Given the description of an element on the screen output the (x, y) to click on. 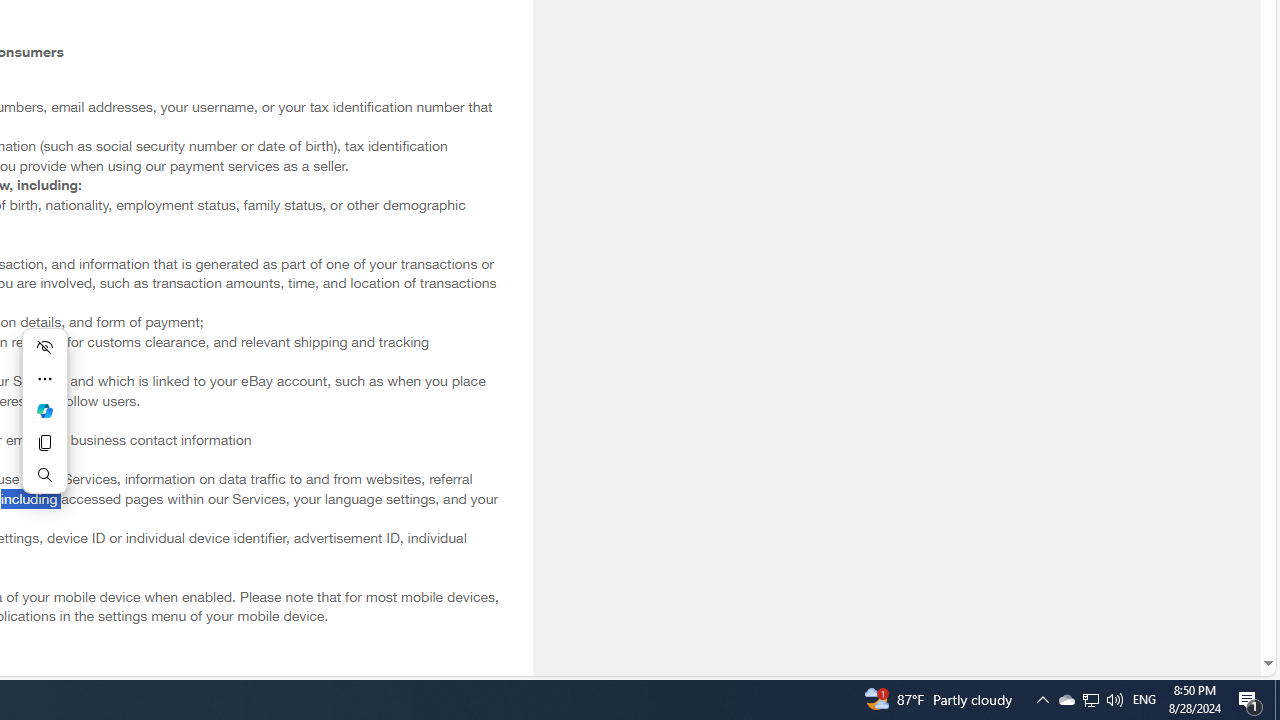
Copy (44, 442)
Mini menu on text selection (44, 411)
Hide menu (44, 346)
Ask Copilot (44, 410)
More actions (44, 378)
